Given the description of an element on the screen output the (x, y) to click on. 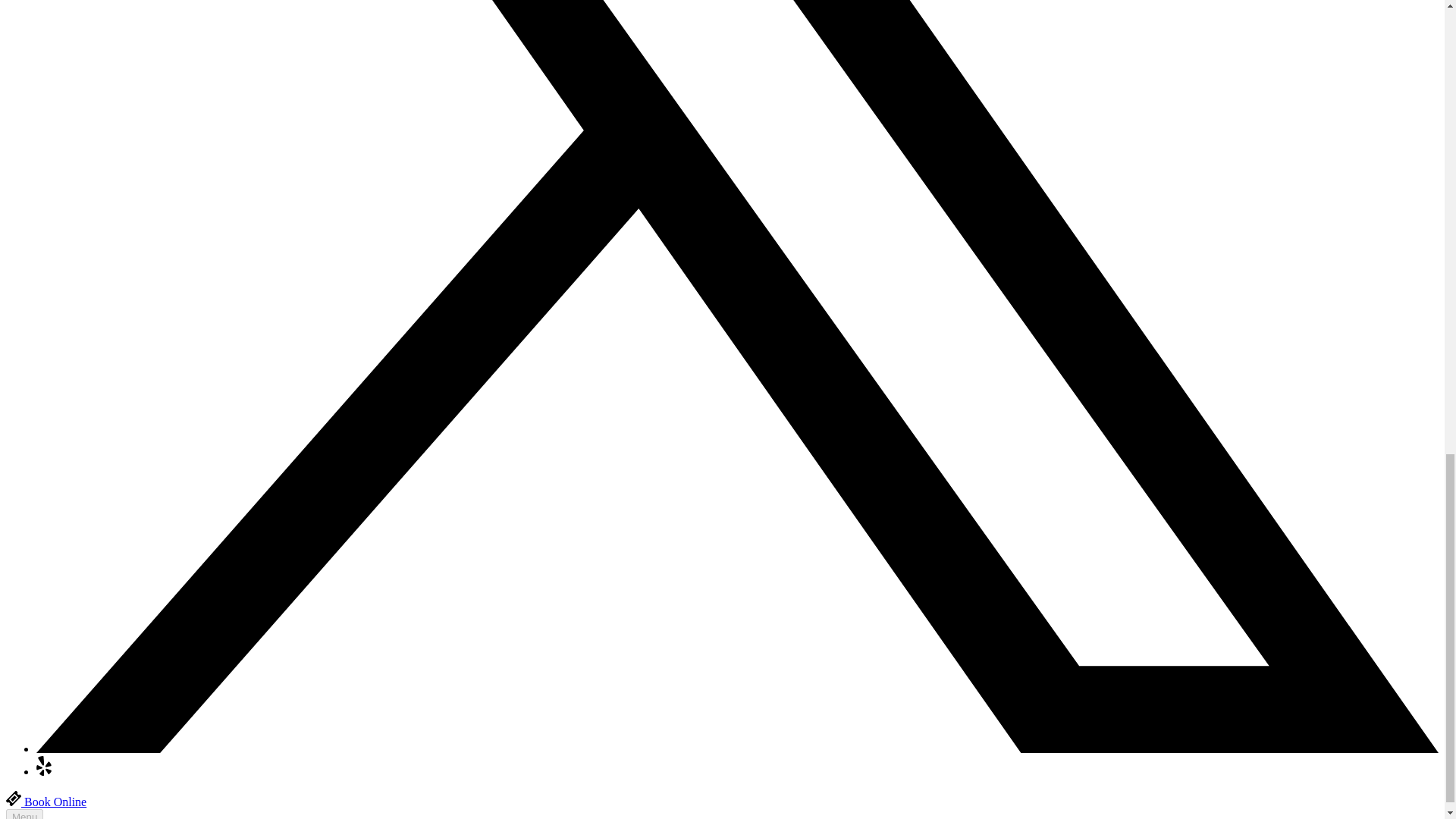
Ticket Book Online (45, 801)
Ticket (13, 798)
Yelp (43, 771)
